Given the description of an element on the screen output the (x, y) to click on. 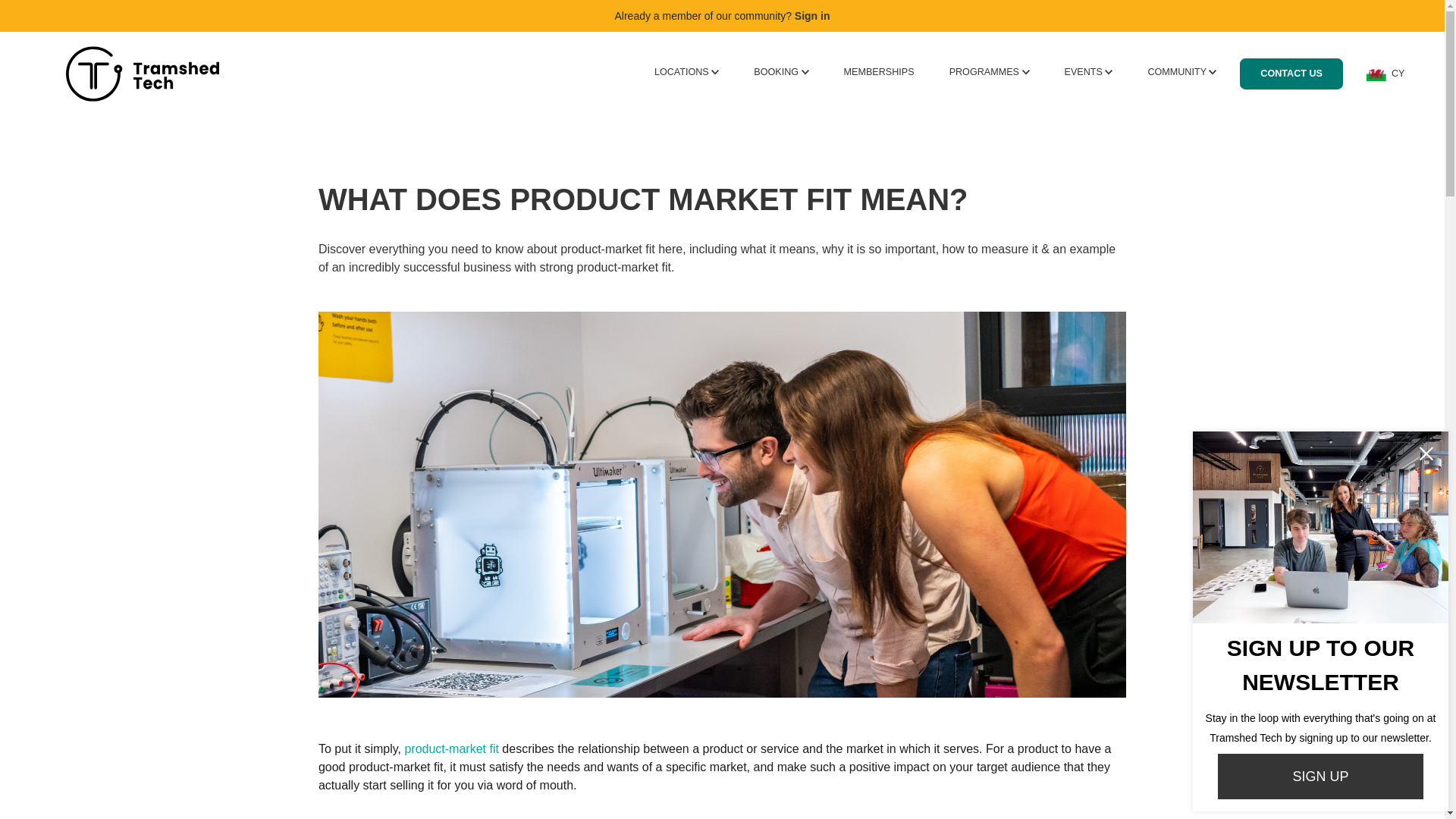
LOCATIONS (686, 71)
PROGRAMMES (989, 71)
Sign in (811, 15)
WHAT DOES PRODUCT MARKET FIT MEAN? (721, 199)
MEMBERSHIPS (879, 71)
BOOKING (780, 71)
